Given the description of an element on the screen output the (x, y) to click on. 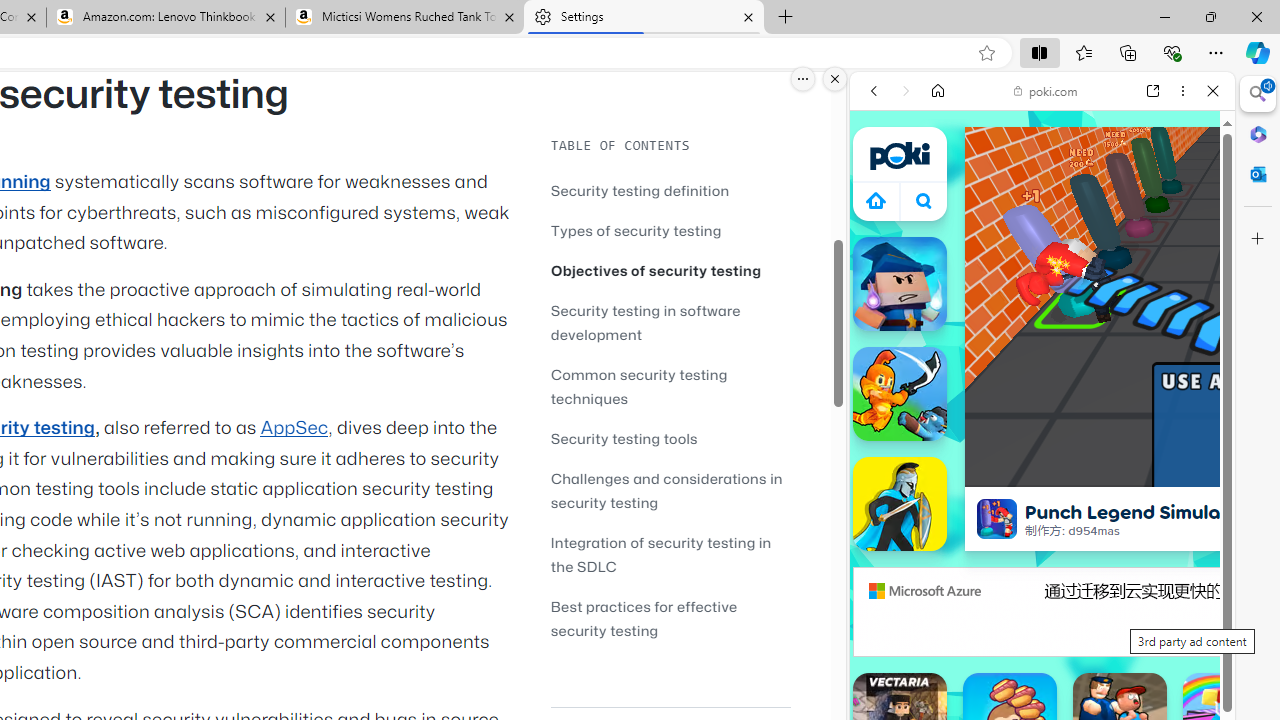
Common security testing techniques (639, 385)
Show More Shooting Games (1164, 521)
Class: B_5ykBA46kDOxiz_R9wm (923, 200)
Show More Car Games (1164, 472)
MagicLand.io (899, 283)
Objectives of security testing (655, 270)
Show More Io Games (1164, 619)
Security testing tools (623, 438)
Types of security testing (670, 230)
Integration of security testing in the SDLC (660, 554)
poki.com (1046, 90)
